Given the description of an element on the screen output the (x, y) to click on. 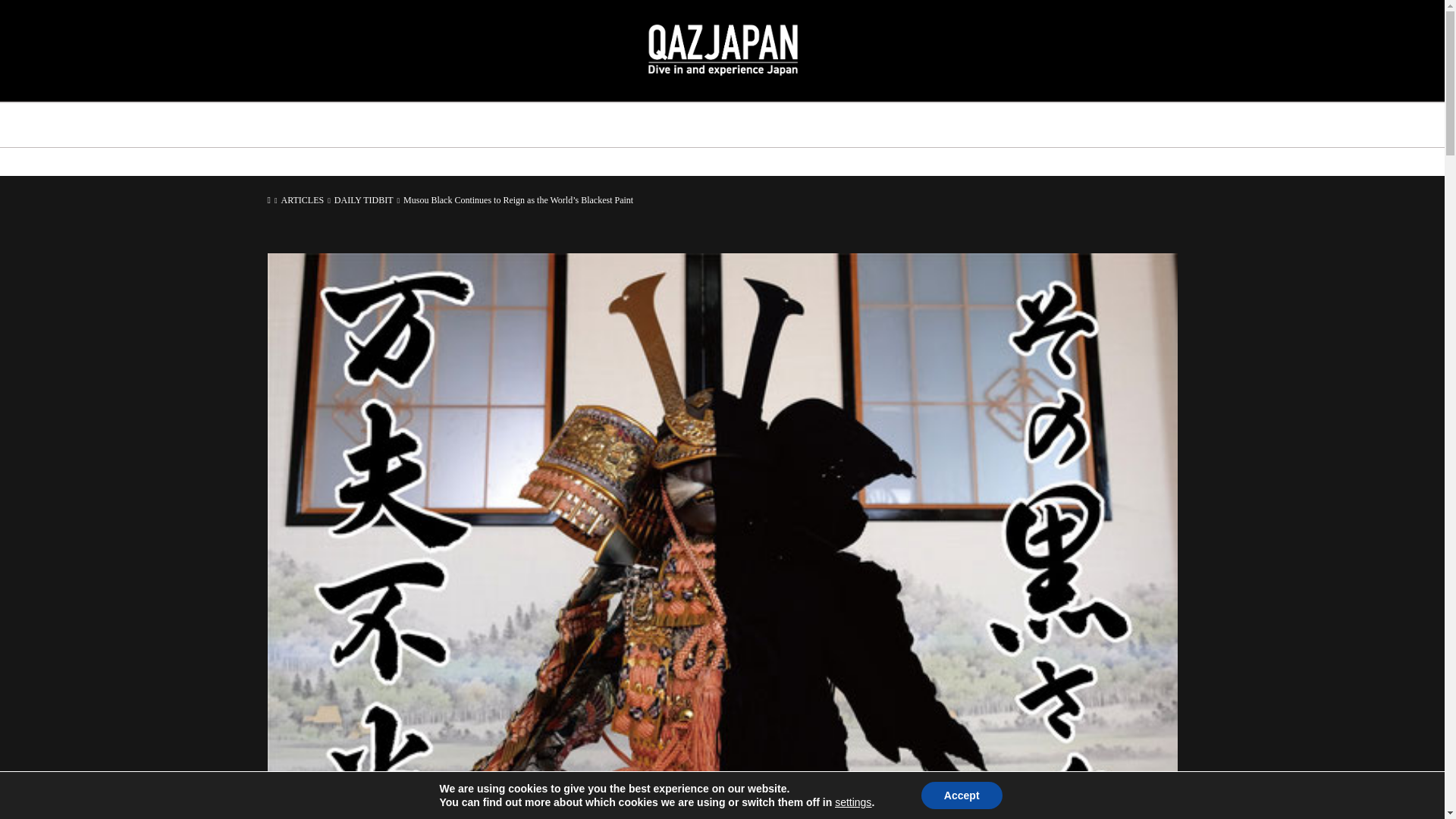
RESTAURANTS (698, 125)
JAPAN (524, 125)
ARTICLES (303, 199)
DAILY TIDBIT (365, 199)
BUSINESS (801, 125)
DAILY TIDBIT (901, 125)
WORLD (600, 125)
